Given the description of an element on the screen output the (x, y) to click on. 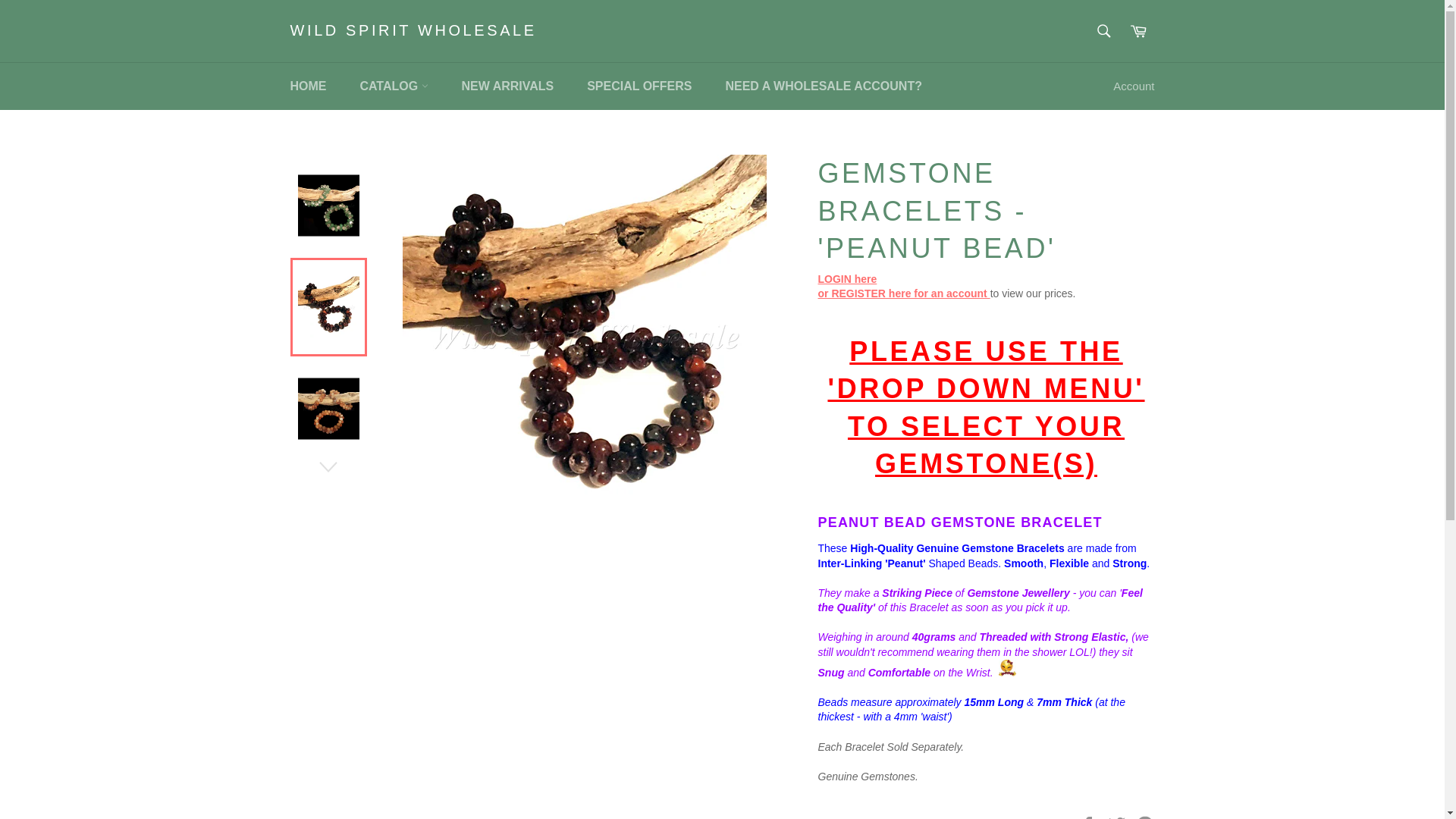
Tweet on Twitter (1118, 818)
Share on Facebook (1089, 818)
